Given the description of an element on the screen output the (x, y) to click on. 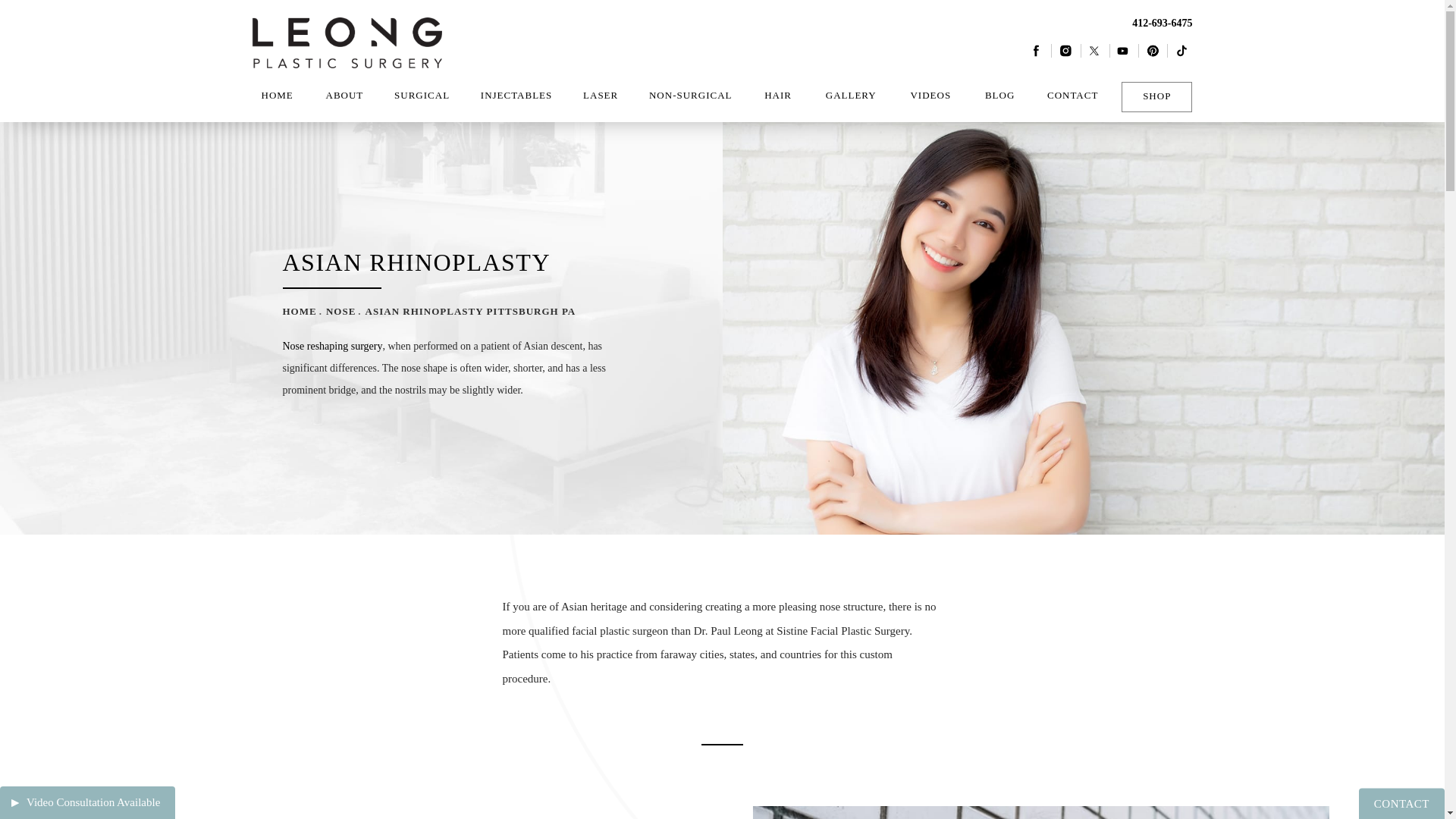
SURGICAL (422, 94)
ABOUT (344, 94)
412-693-6475 (1108, 23)
HOME (276, 95)
